Given the description of an element on the screen output the (x, y) to click on. 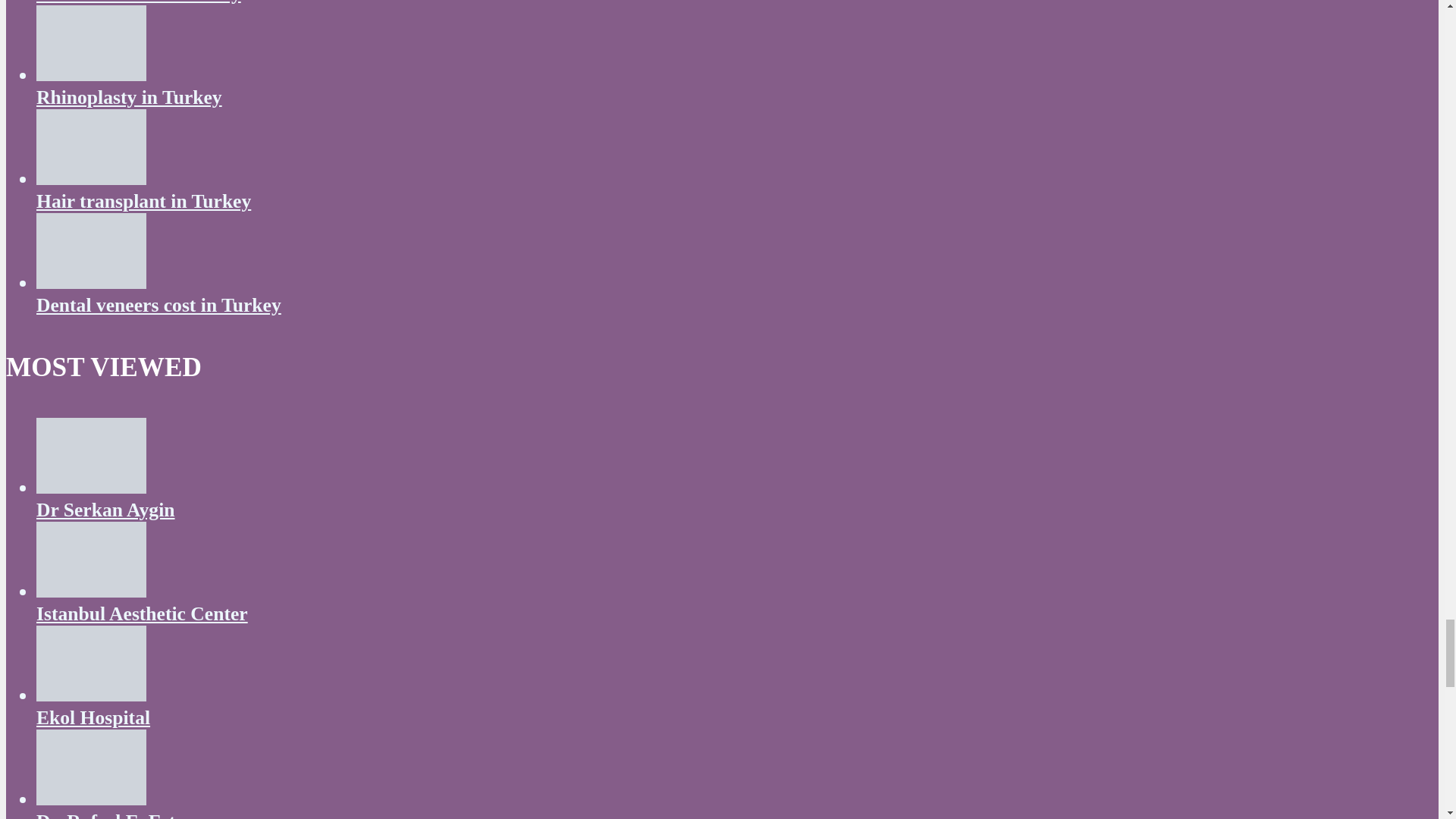
Hair transplant in Turkey (143, 201)
Dental veneers cost in Turkey (158, 305)
Istanbul Aesthetic Center (91, 590)
Rhinoplasty in Turkey (129, 97)
Dr Serkan Aygin (91, 486)
Dental veneers cost in Turkey (91, 282)
Ekol Hospital (92, 717)
Rhinoplasty in Turkey (91, 74)
Breast lift cost in Turkey (138, 2)
Dr Serkan Aygin (105, 509)
Ekol Hospital (91, 694)
Istanbul Aesthetic Center (141, 613)
Hair transplant in Turkey (91, 178)
